Given the description of an element on the screen output the (x, y) to click on. 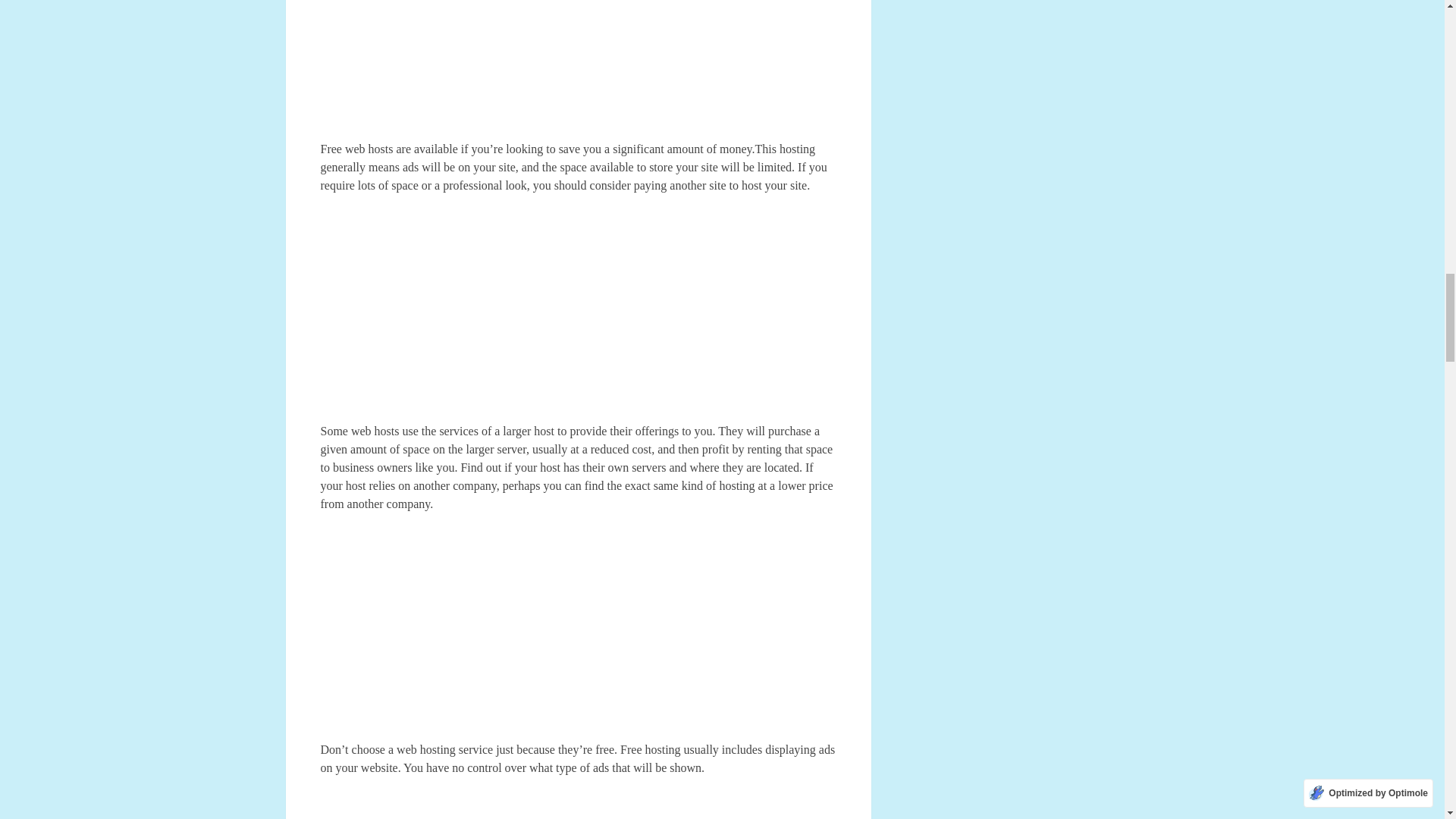
Advertisement (577, 70)
Advertisement (577, 634)
Advertisement (577, 315)
